Given the description of an element on the screen output the (x, y) to click on. 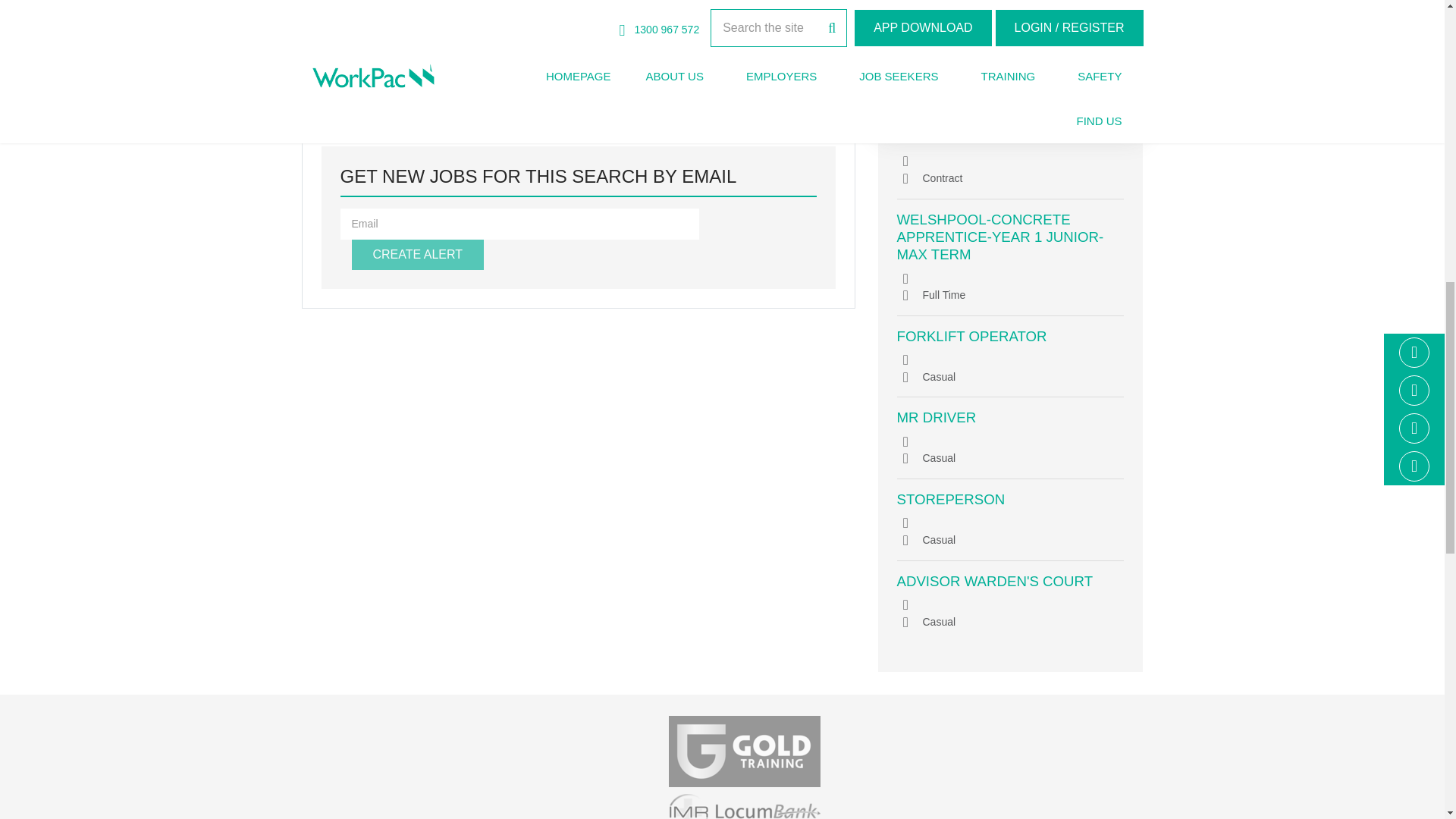
WELSHPOOL-Concrete Apprentice-Year 1 Junior-Max Term (999, 119)
WELSHPOOL-Concrete Apprentice-Year 1 Junior-Max Term (999, 236)
Advisor Warden's Court (994, 580)
Forklift Operator (971, 335)
MR Driver (935, 417)
Tender Coordinator (979, 20)
Storeperson (950, 498)
